Given the description of an element on the screen output the (x, y) to click on. 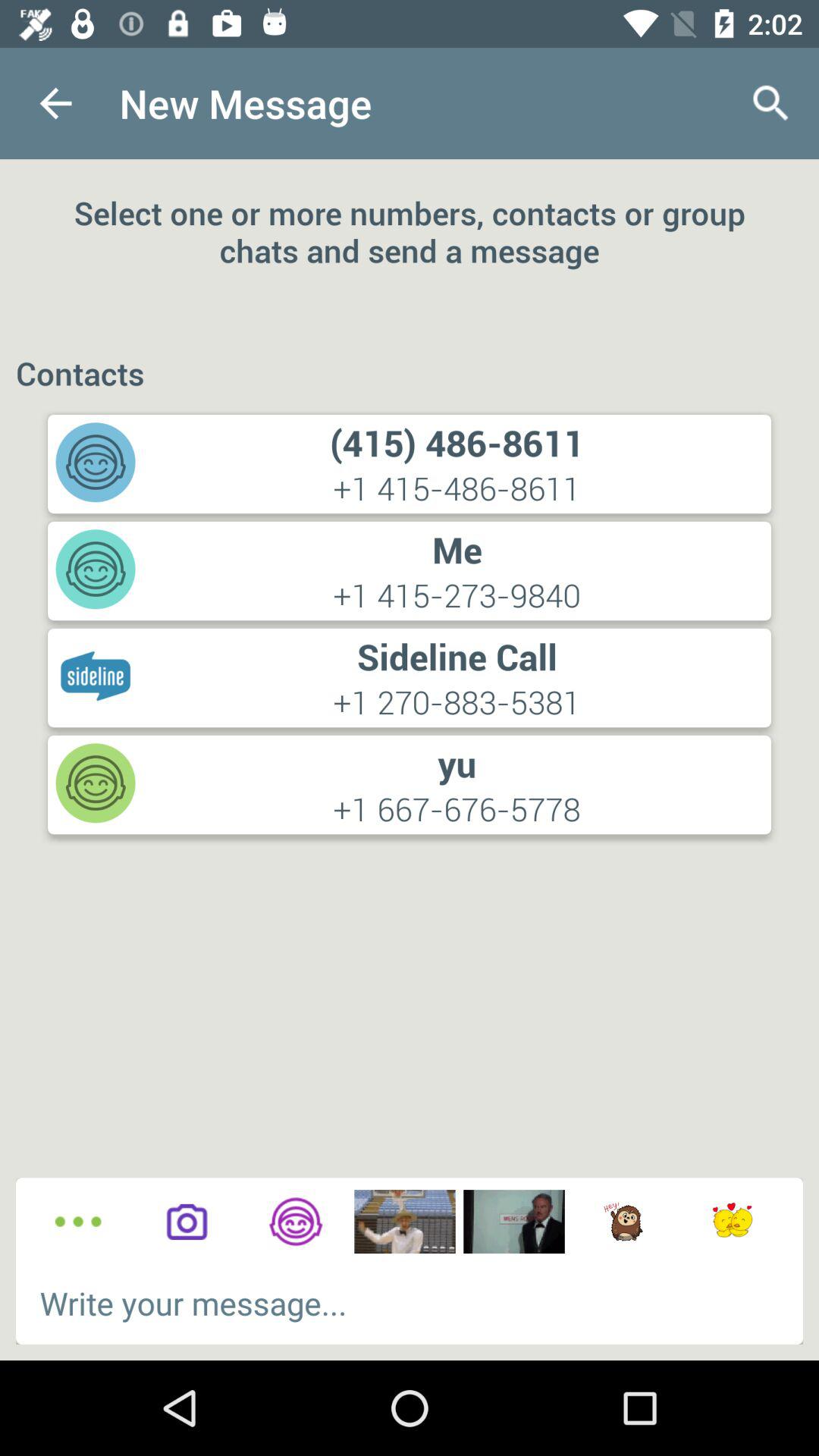
choose from options (77, 1221)
